Given the description of an element on the screen output the (x, y) to click on. 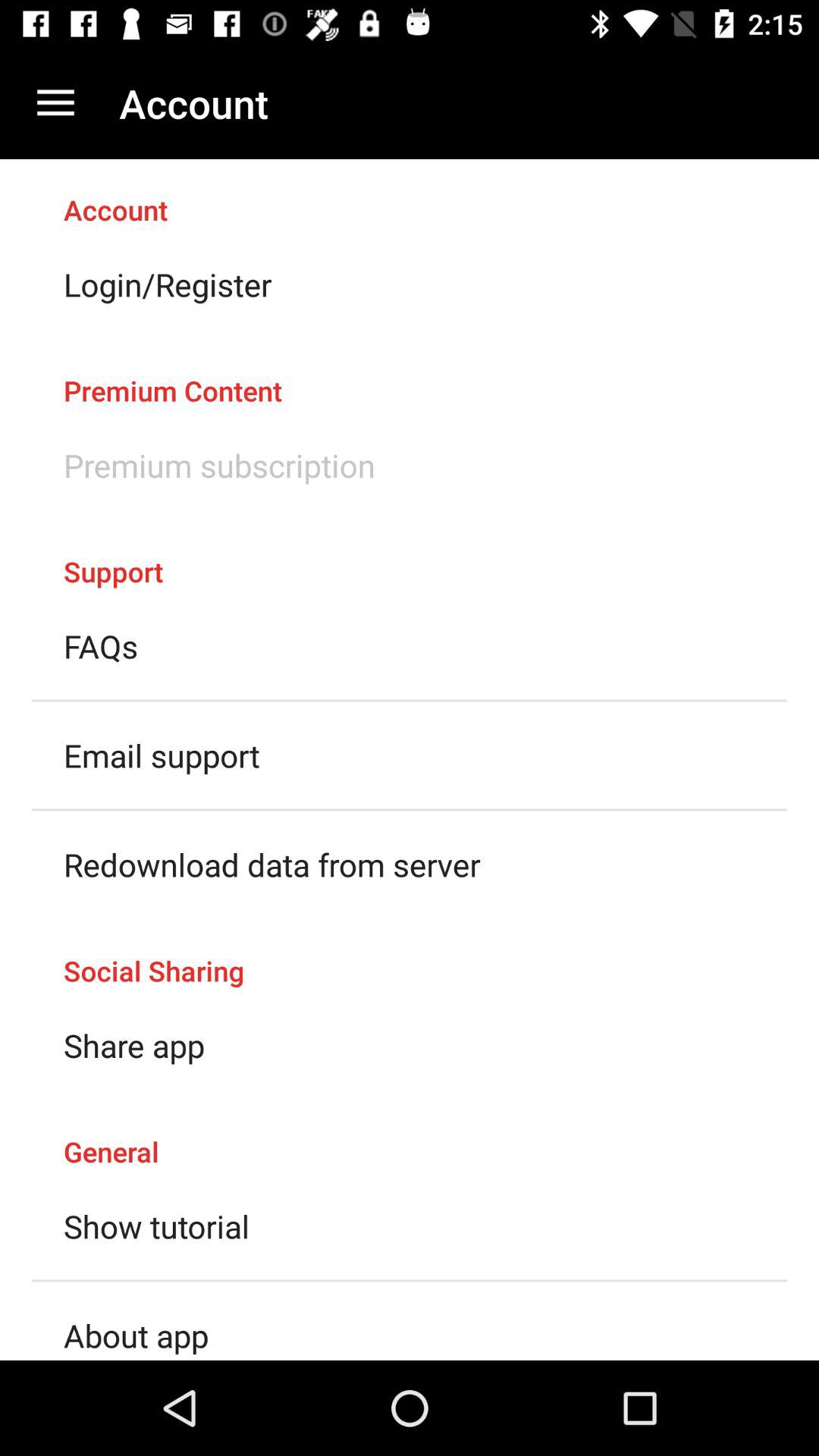
launch item above the show tutorial (409, 1135)
